Given the description of an element on the screen output the (x, y) to click on. 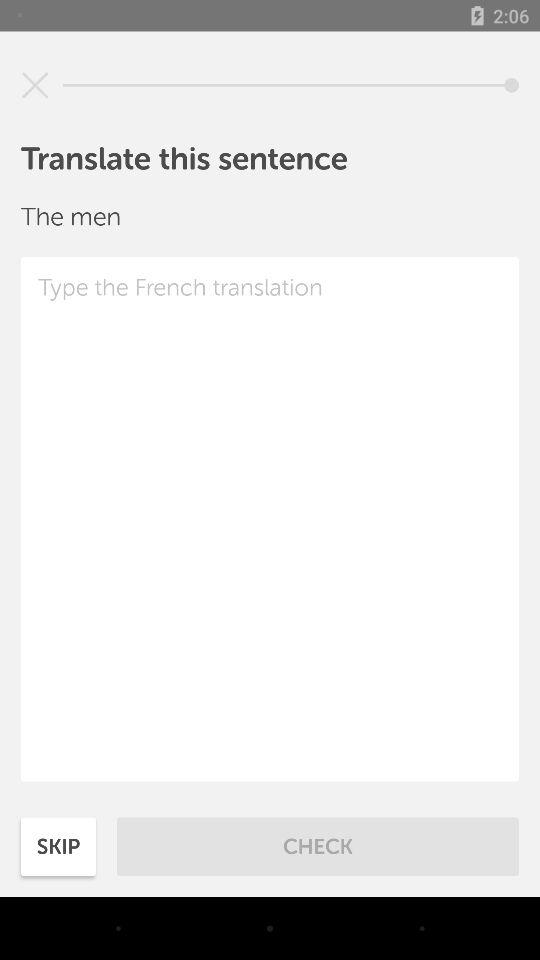
scroll to check icon (318, 846)
